Given the description of an element on the screen output the (x, y) to click on. 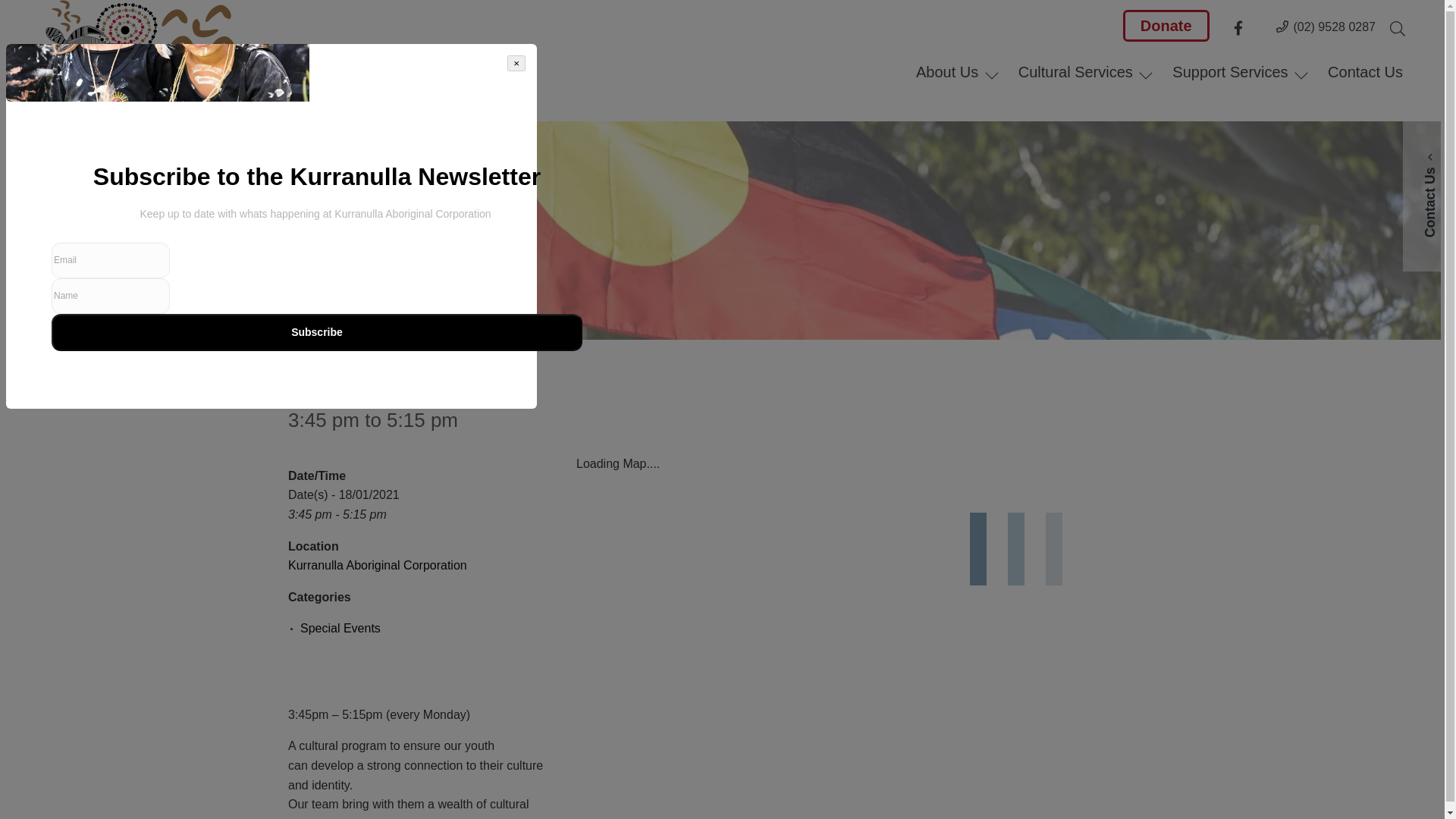
About Us (957, 68)
Support Services (1240, 71)
Search (11, 11)
Contact Us (1365, 71)
Kurranulla Aboriginal Corporation (377, 564)
Special Events (339, 627)
Cultural Services (1085, 70)
Donate (1165, 25)
